Given the description of an element on the screen output the (x, y) to click on. 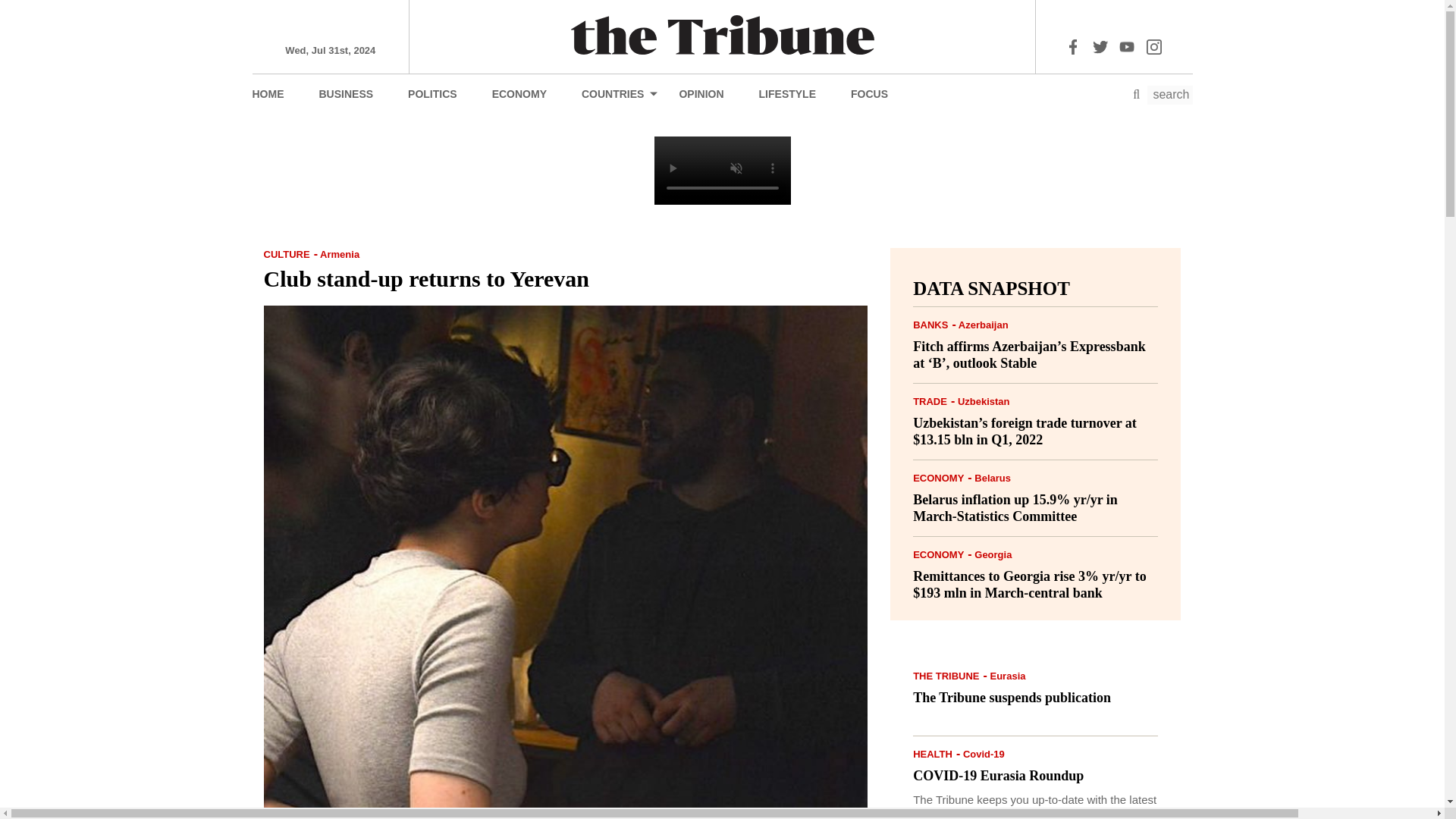
View all posts in Azerbaijan (983, 324)
View all posts in Eurasia (1008, 675)
BUSINESS (345, 93)
View all posts in category (929, 401)
OPINION (700, 93)
LIFESTYLE (786, 93)
View all posts in Georgia (992, 554)
View all posts in category (945, 675)
View all posts in Uzbekistan (984, 401)
FOCUS (869, 93)
View all posts in category (286, 254)
View all posts in Covid-19 (983, 754)
ECONOMY (519, 93)
View all posts in category (937, 554)
View all posts in Belarus (992, 478)
